Given the description of an element on the screen output the (x, y) to click on. 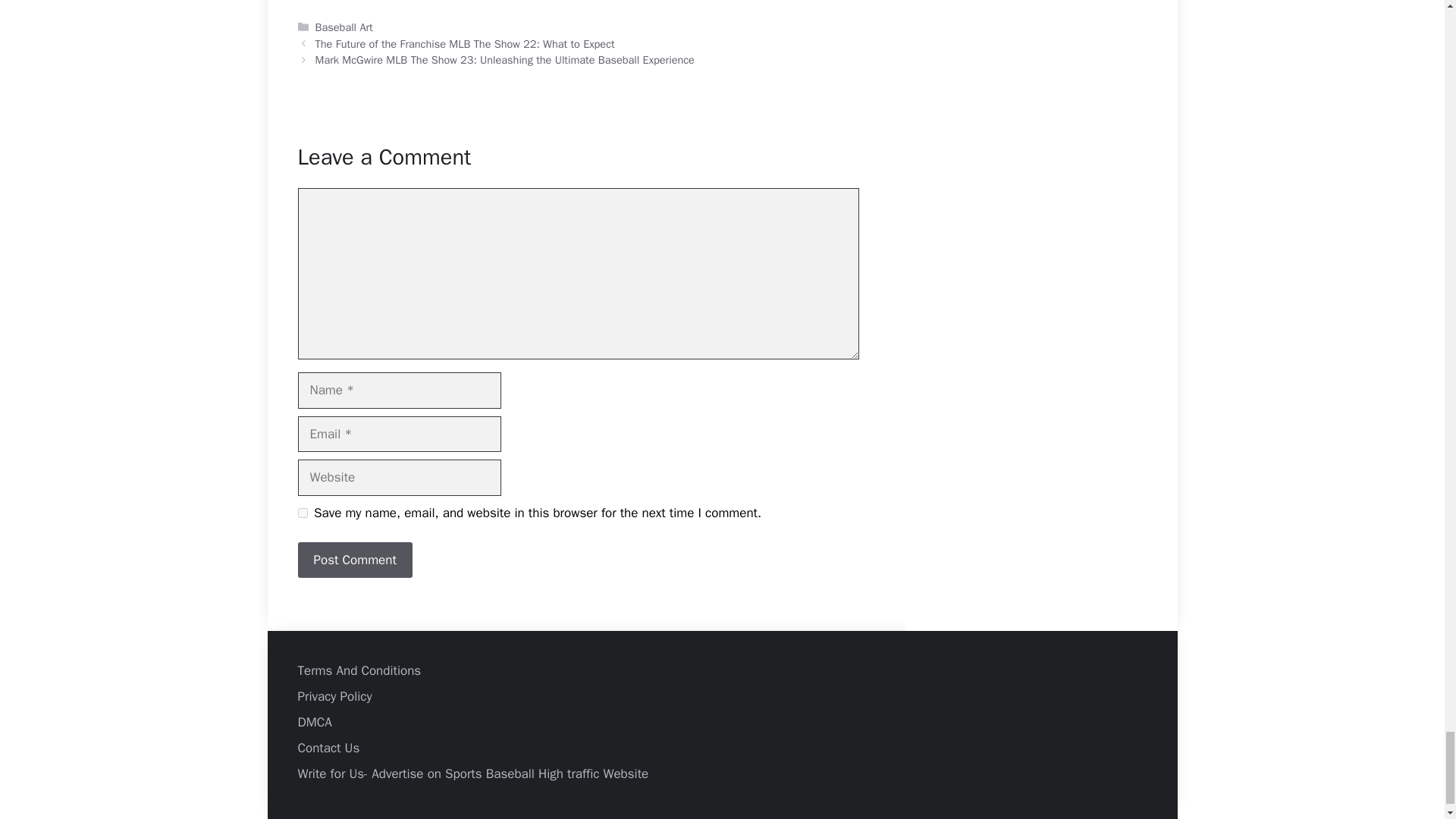
Baseball Art (343, 27)
Post Comment (354, 560)
Post Comment (354, 560)
yes (302, 512)
The Future of the Franchise MLB The Show 22: What to Expect (464, 43)
